Given the description of an element on the screen output the (x, y) to click on. 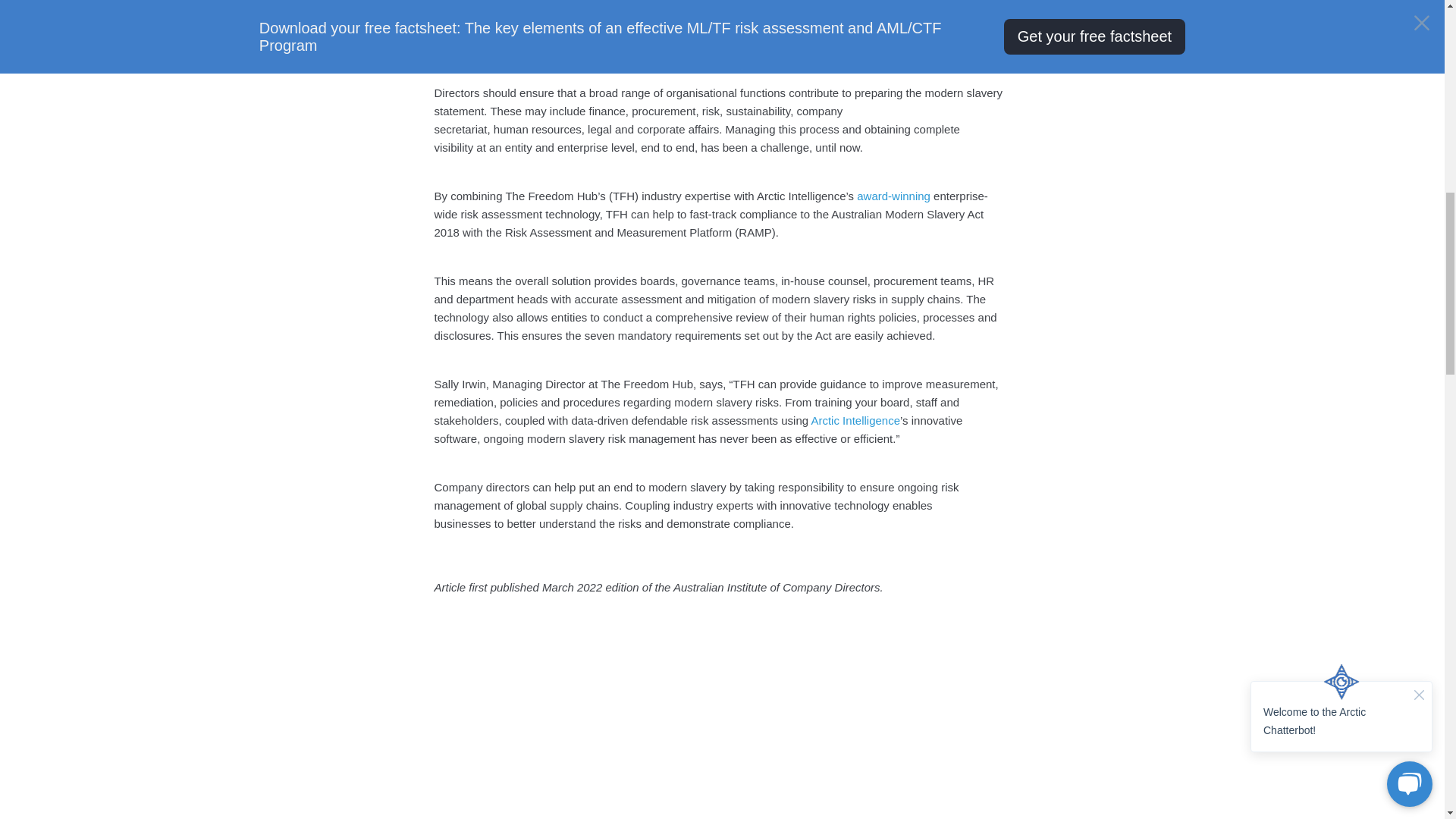
Form 0 (721, 749)
